Given the description of an element on the screen output the (x, y) to click on. 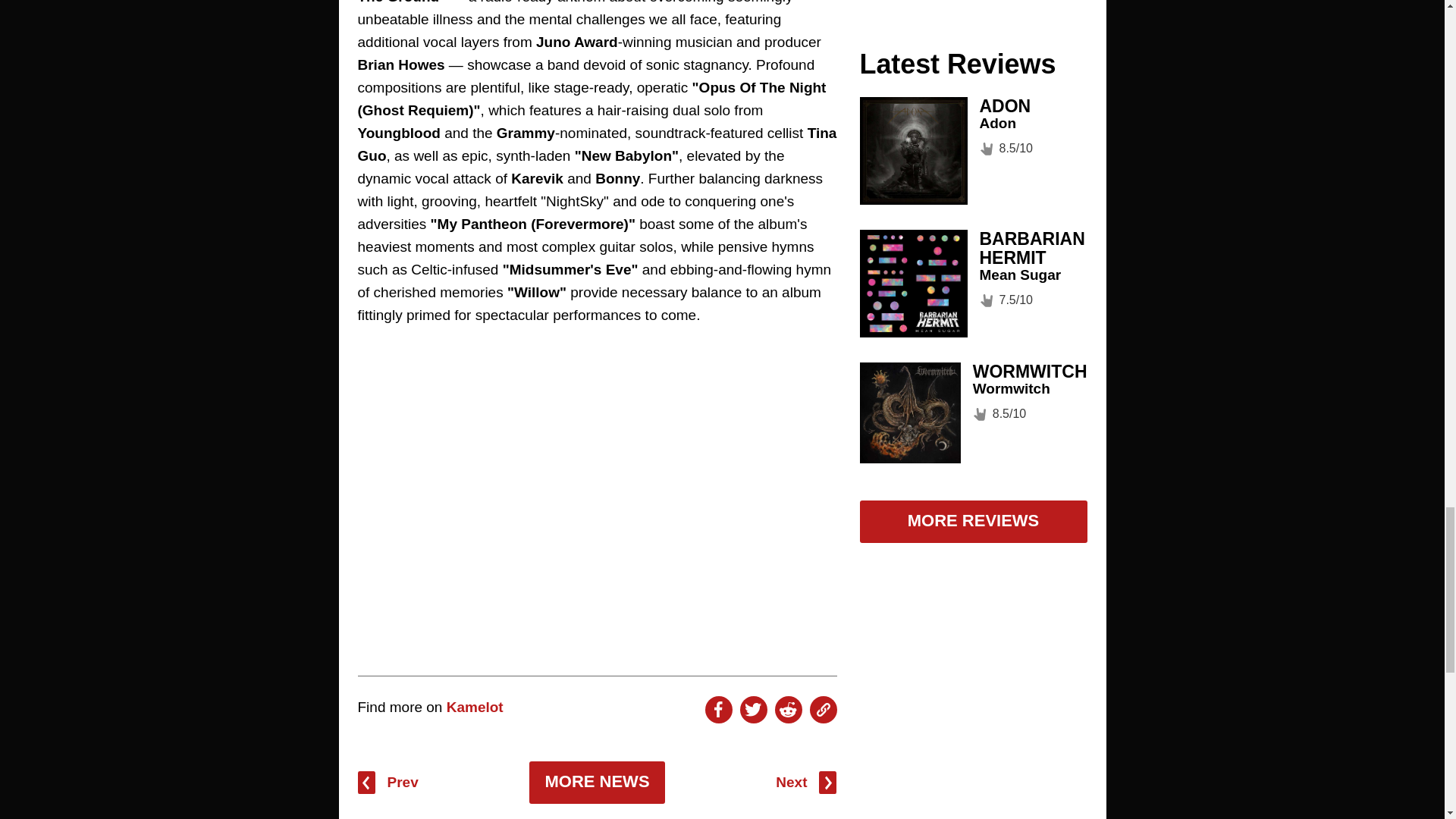
Share On Reddit (788, 709)
Prev (388, 782)
Kamelot (474, 706)
YouTube video player (597, 485)
Next (805, 782)
MORE NEWS (596, 782)
Copy To Clipboard (823, 709)
Share On Facebook (718, 709)
Share On Twitter (753, 709)
